Given the description of an element on the screen output the (x, y) to click on. 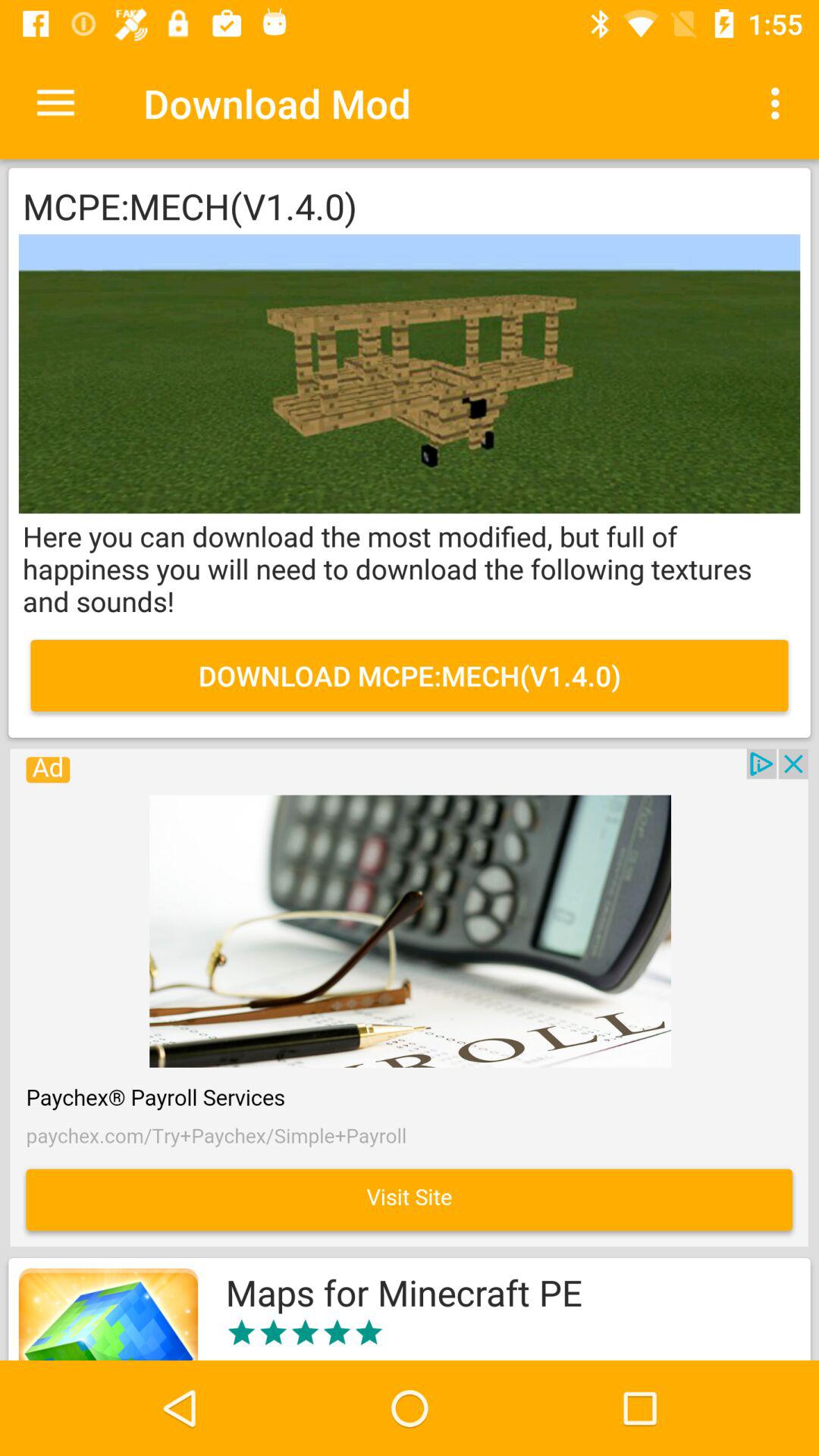
explore the advertised website (409, 997)
